Given the description of an element on the screen output the (x, y) to click on. 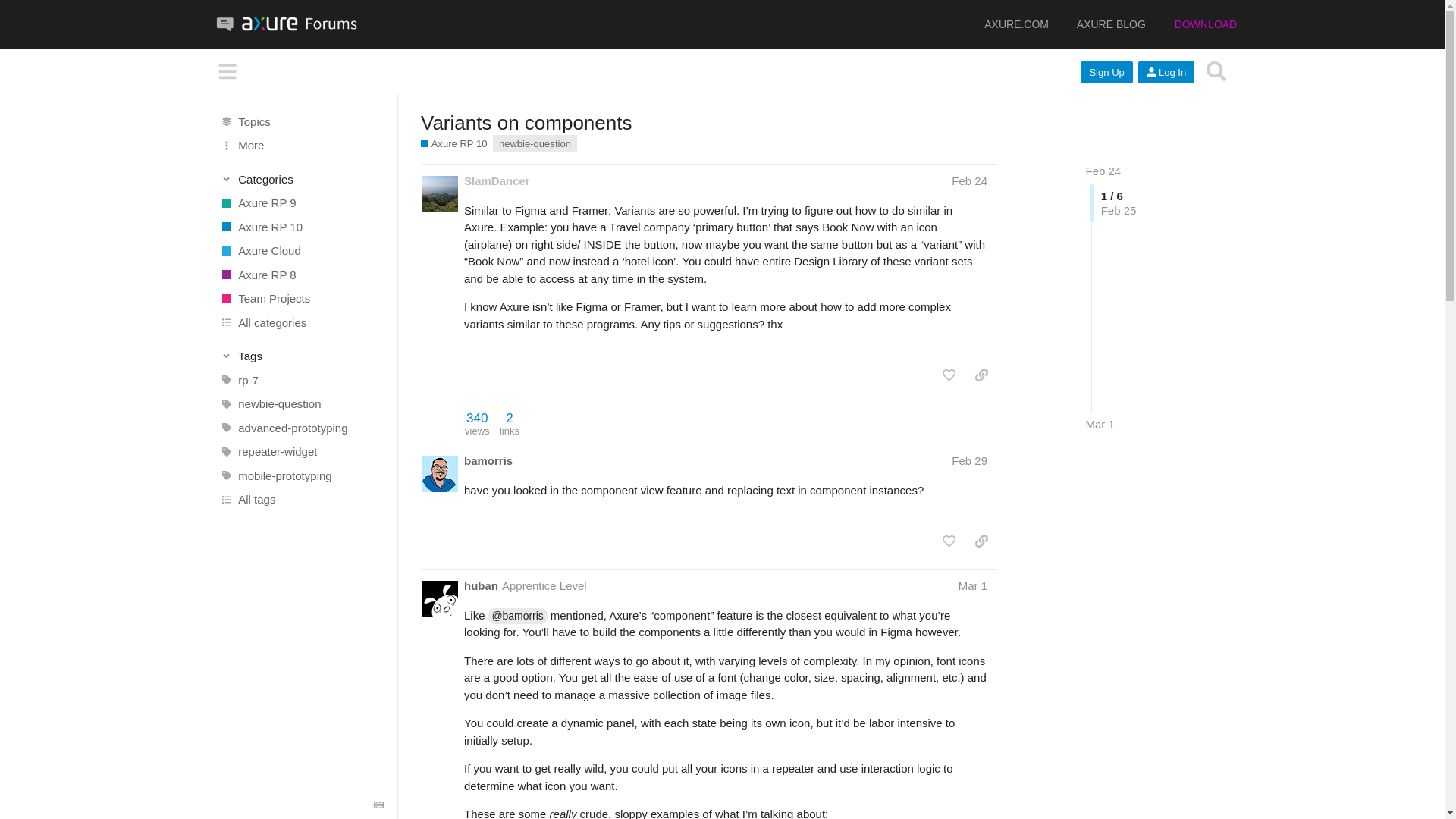
rp-7 (301, 380)
Search (1215, 70)
DOWNLOAD (1194, 24)
Learn about the new Axure Cloud at www.axure.cloud (301, 250)
newbie-question (477, 423)
AXURE BLOG (534, 143)
advanced-prototyping (1099, 24)
Sign Up (301, 427)
For questions and discussions about Team Projects. (1106, 72)
